Given the description of an element on the screen output the (x, y) to click on. 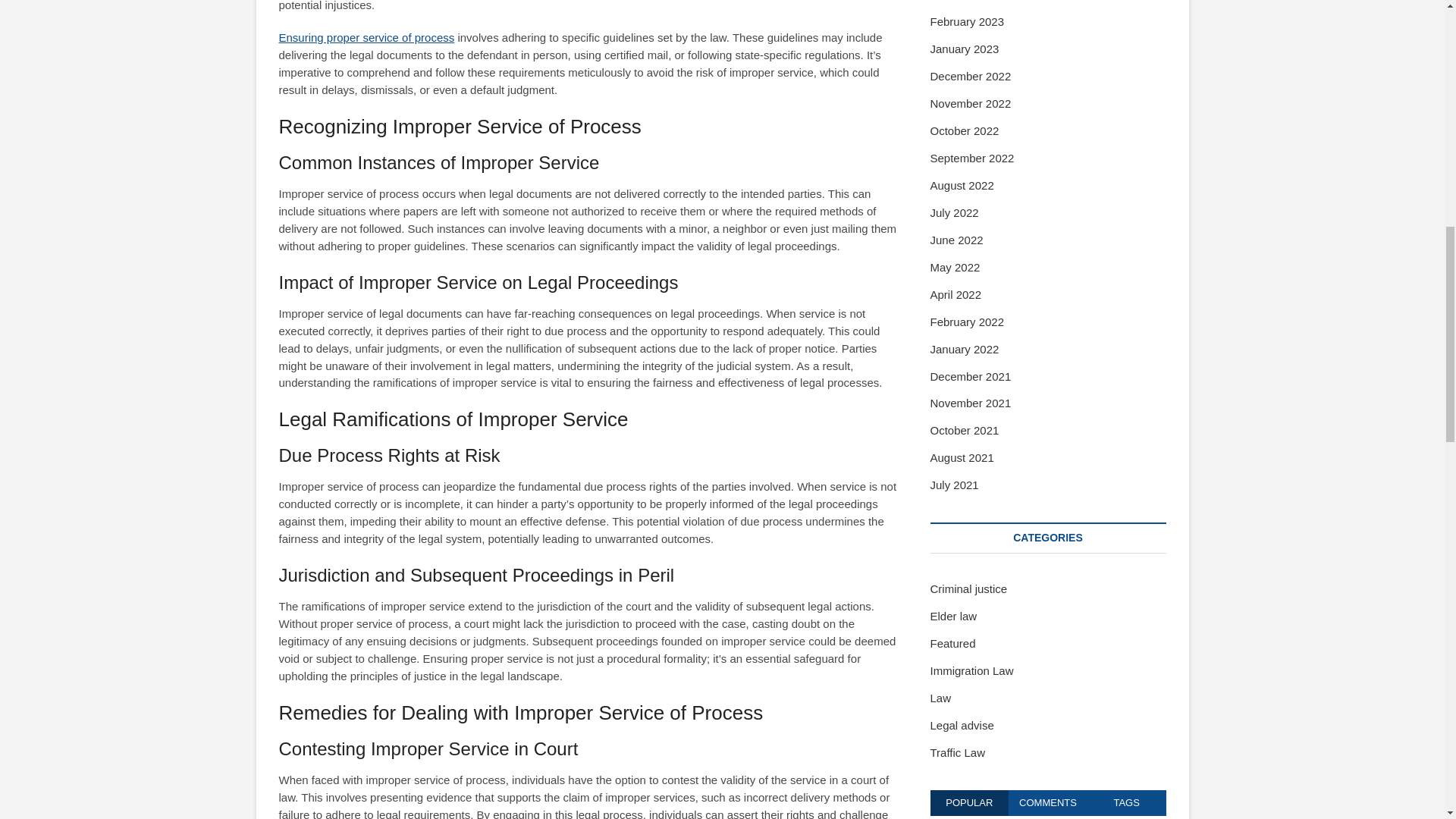
Ensuring proper service of process (366, 37)
